Given the description of an element on the screen output the (x, y) to click on. 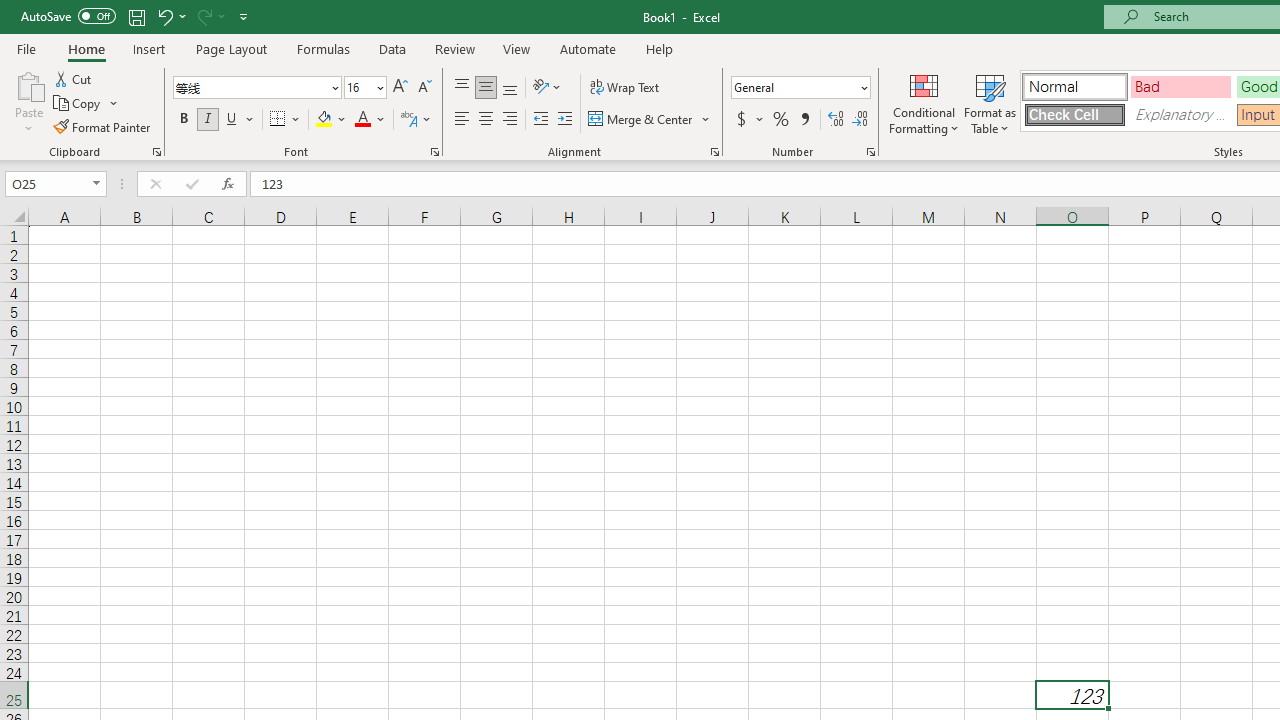
Home (86, 48)
Italic (207, 119)
Undo (164, 15)
Bad (1180, 86)
System (10, 11)
More Options (760, 119)
Orientation (547, 87)
Middle Align (485, 87)
Redo (209, 15)
Copy (85, 103)
Paste (28, 102)
Increase Font Size (399, 87)
Number Format (794, 87)
Underline (232, 119)
Font (256, 87)
